Given the description of an element on the screen output the (x, y) to click on. 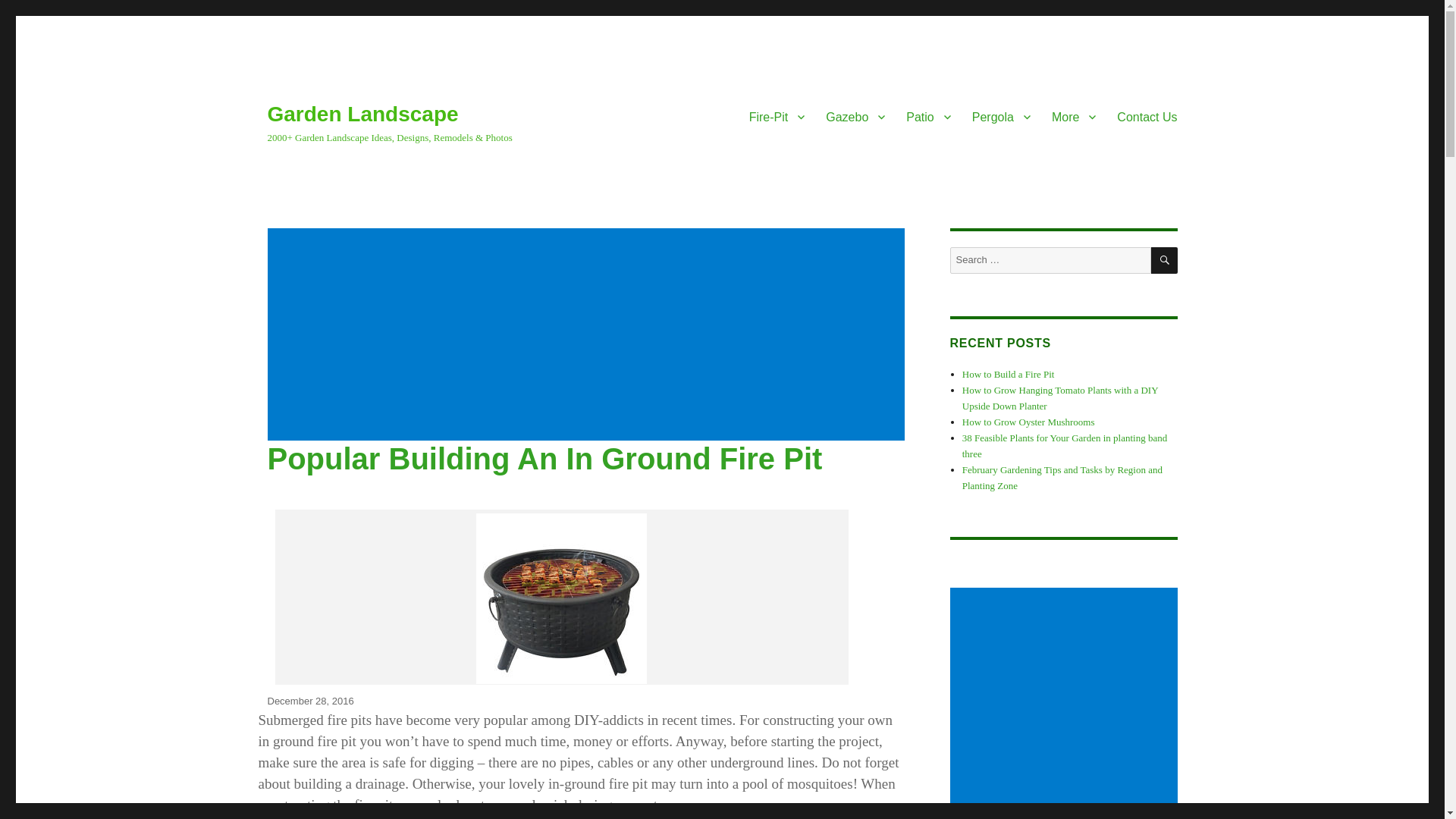
Patio (927, 116)
Garden Landscape (362, 114)
Fire-Pit (776, 116)
Gazebo (855, 116)
